Given the description of an element on the screen output the (x, y) to click on. 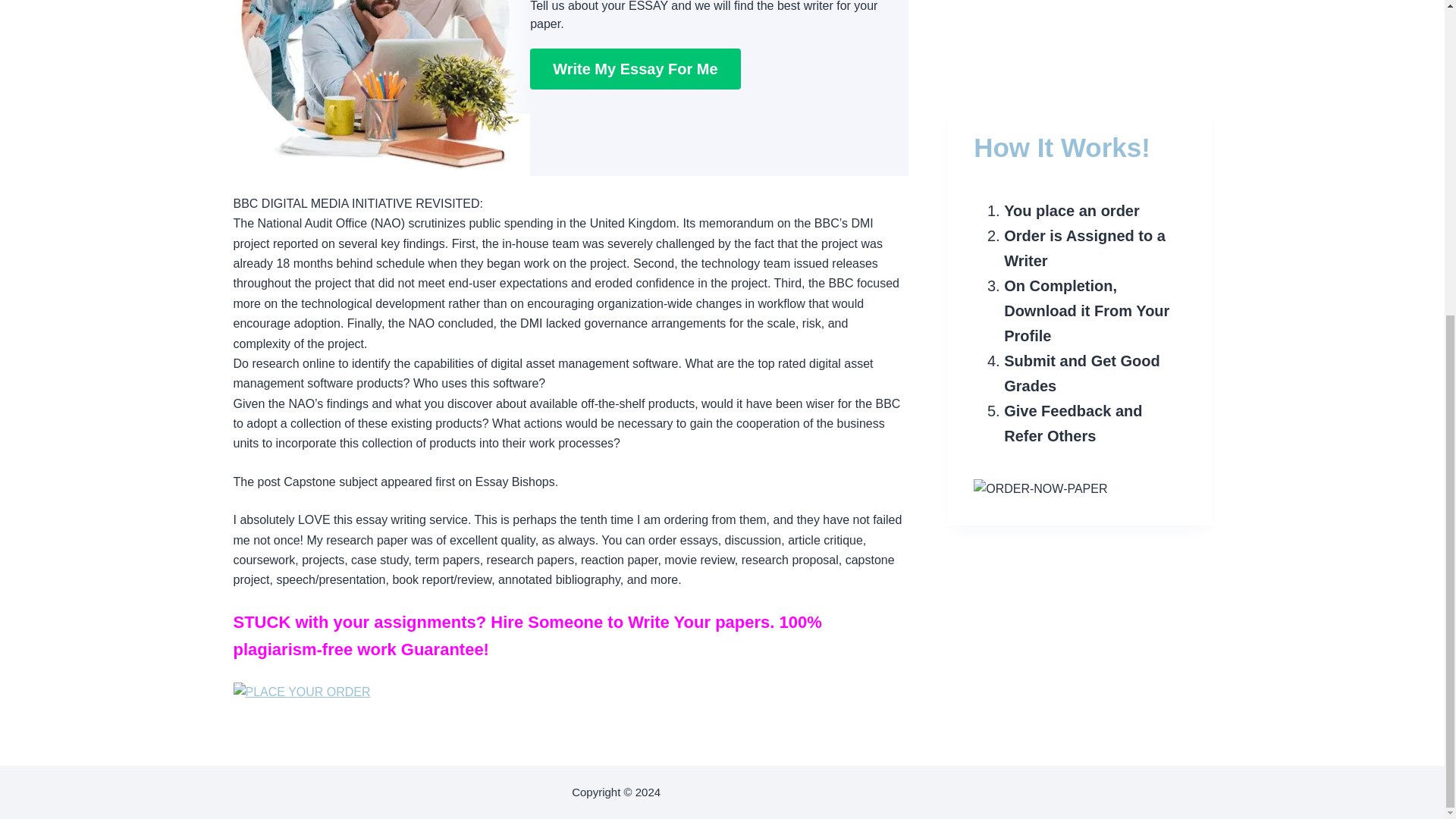
Write My Essay For Me (634, 68)
